Given the description of an element on the screen output the (x, y) to click on. 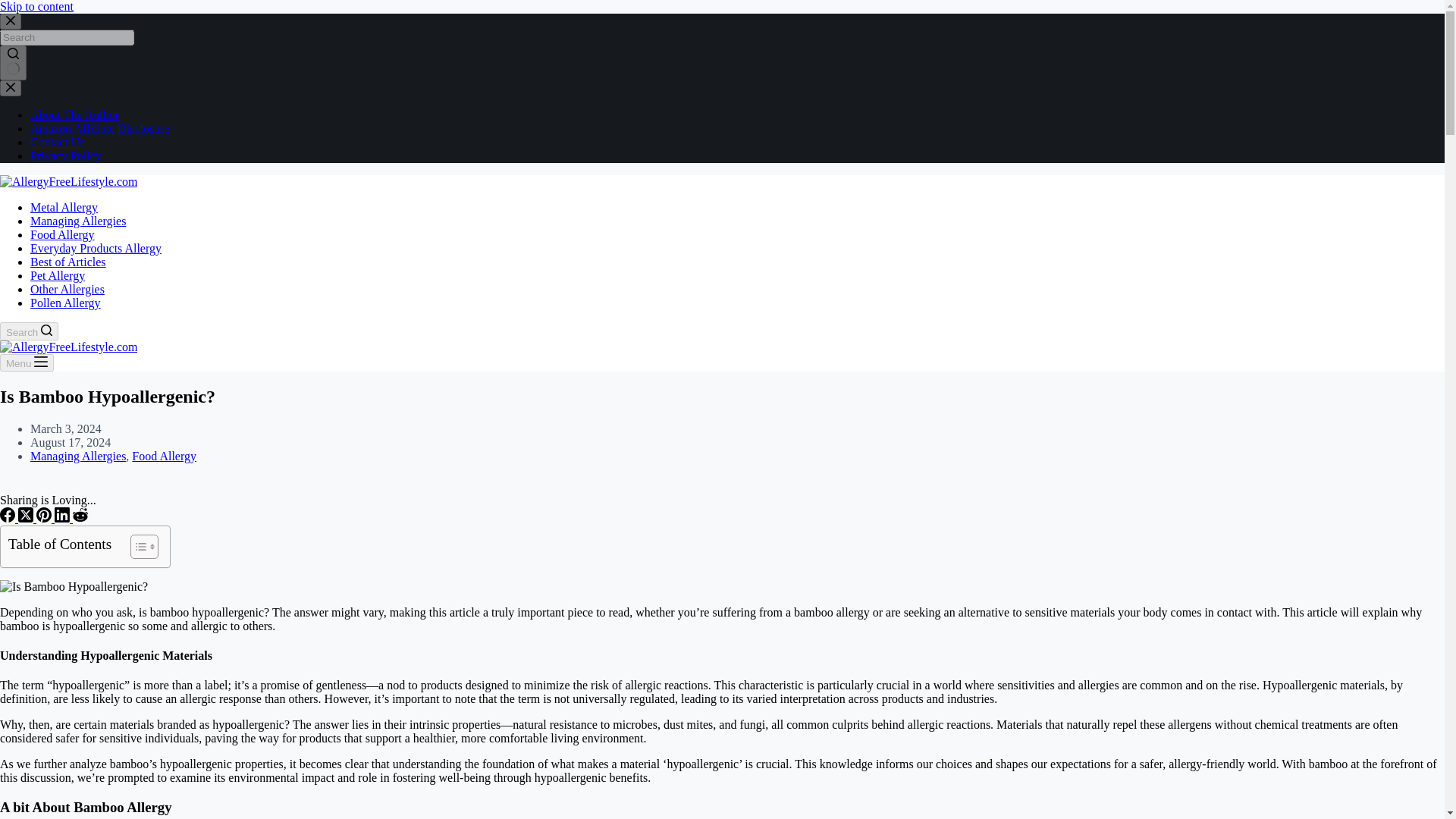
Menu (26, 362)
Pollen Allergy (65, 302)
About The Author (74, 114)
Everyday Products Allergy (95, 247)
Other Allergies (67, 288)
Pet Allergy (57, 275)
Privacy Policy (65, 155)
Metal Allergy (63, 206)
Food Allergy (62, 234)
Managing Allergies (77, 220)
